Given the description of an element on the screen output the (x, y) to click on. 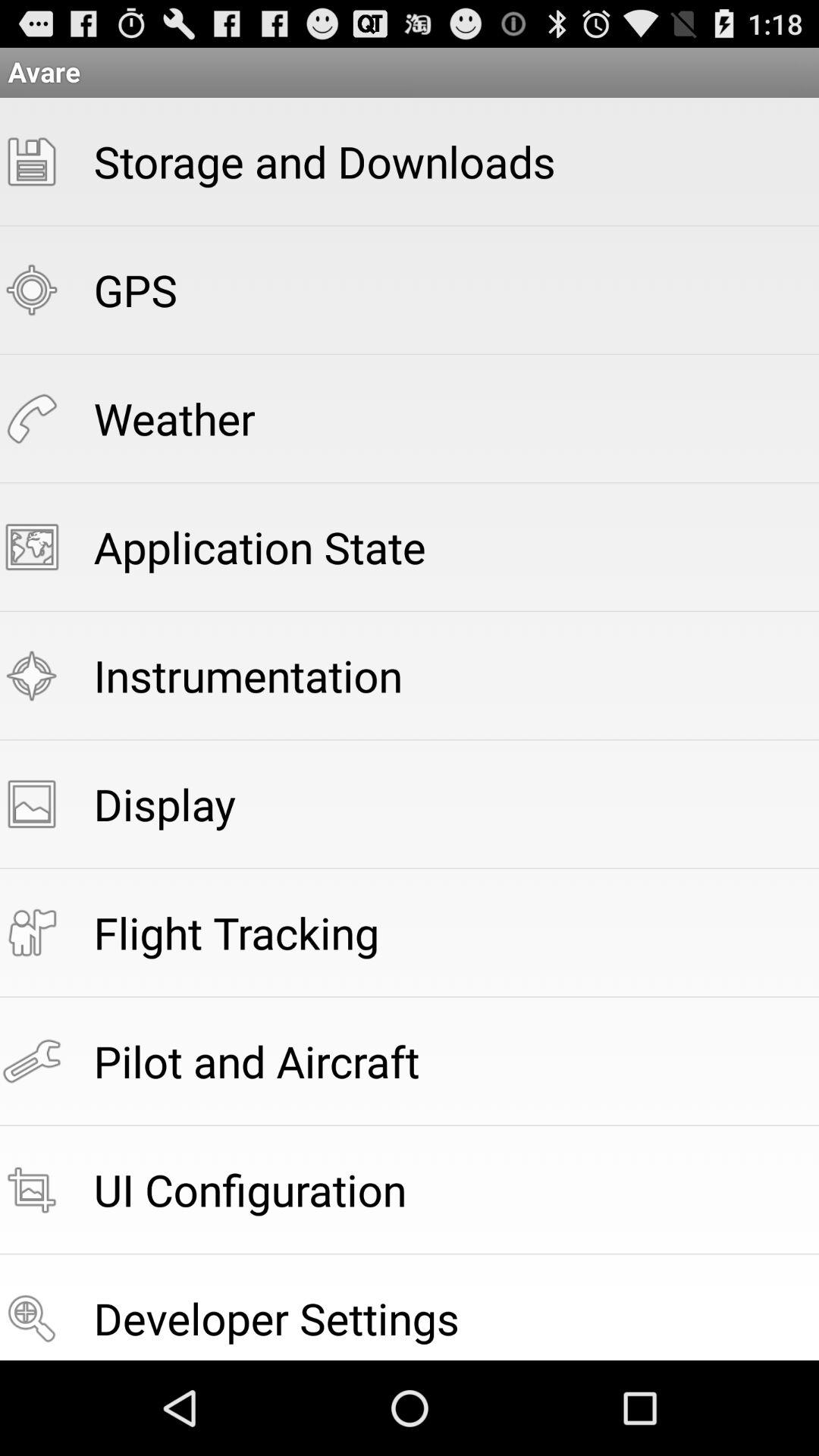
select the display icon (164, 803)
